Given the description of an element on the screen output the (x, y) to click on. 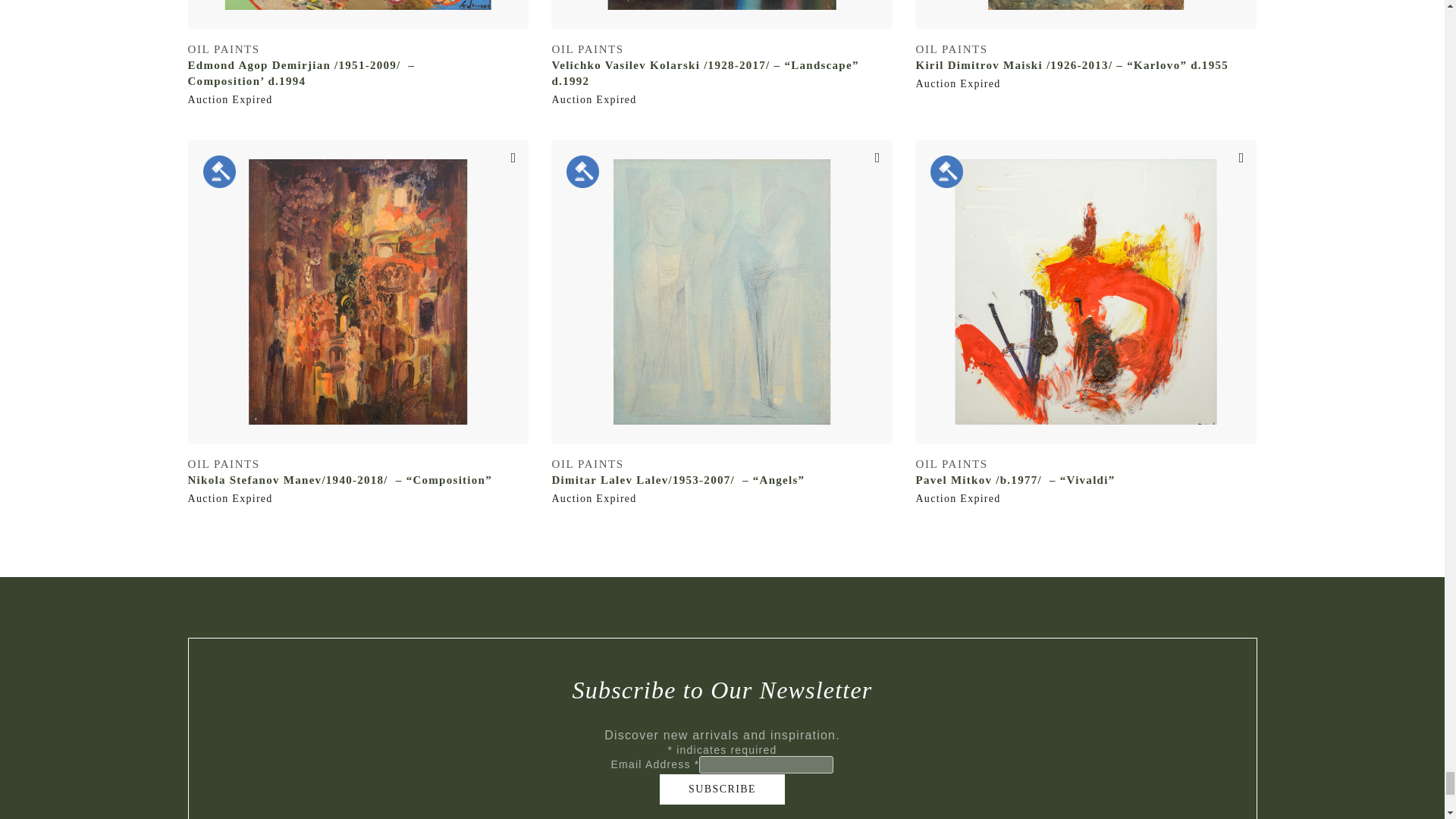
Subscribe (722, 789)
